Given the description of an element on the screen output the (x, y) to click on. 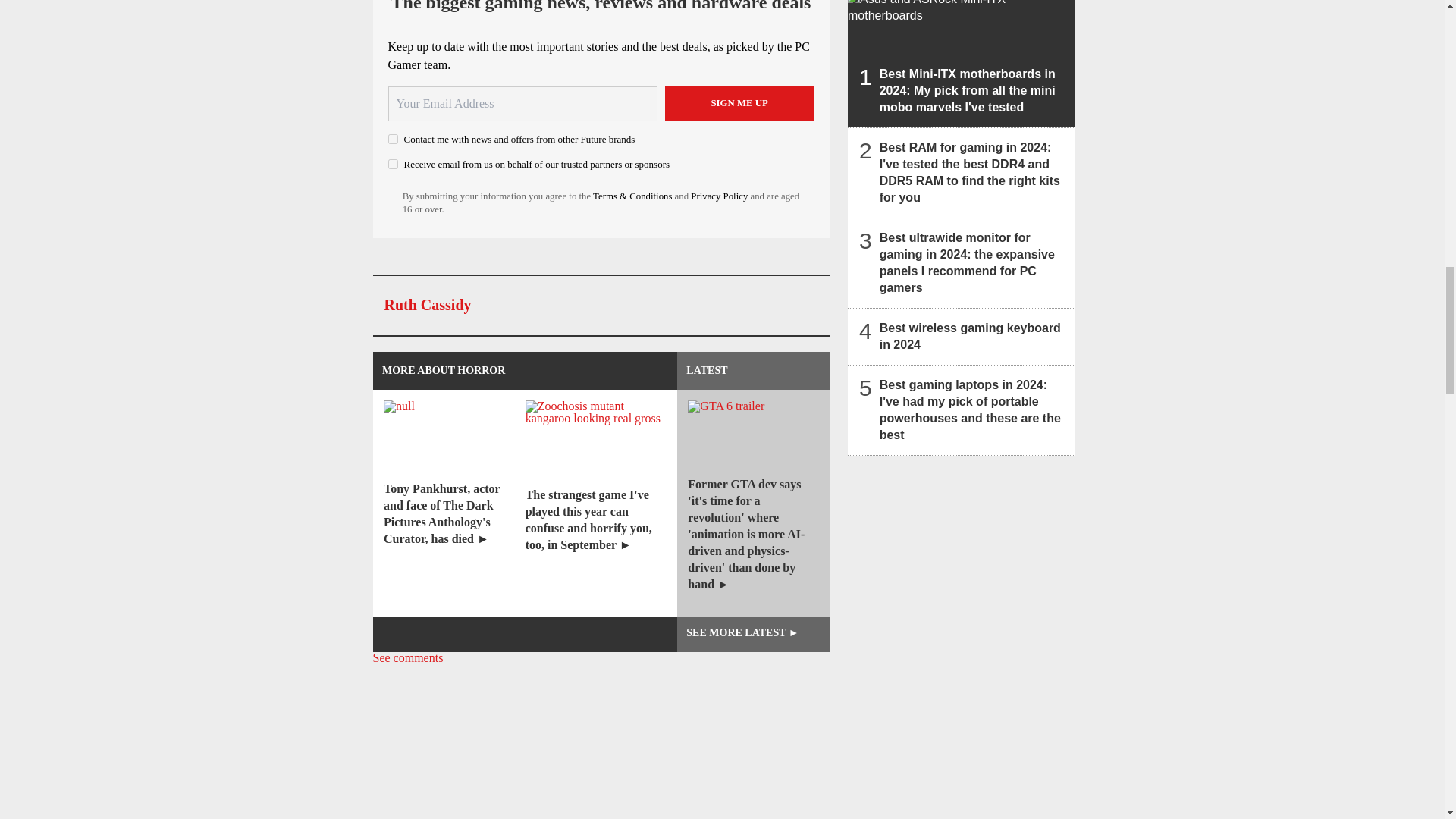
on (392, 163)
Sign me up (739, 103)
on (392, 139)
